Given the description of an element on the screen output the (x, y) to click on. 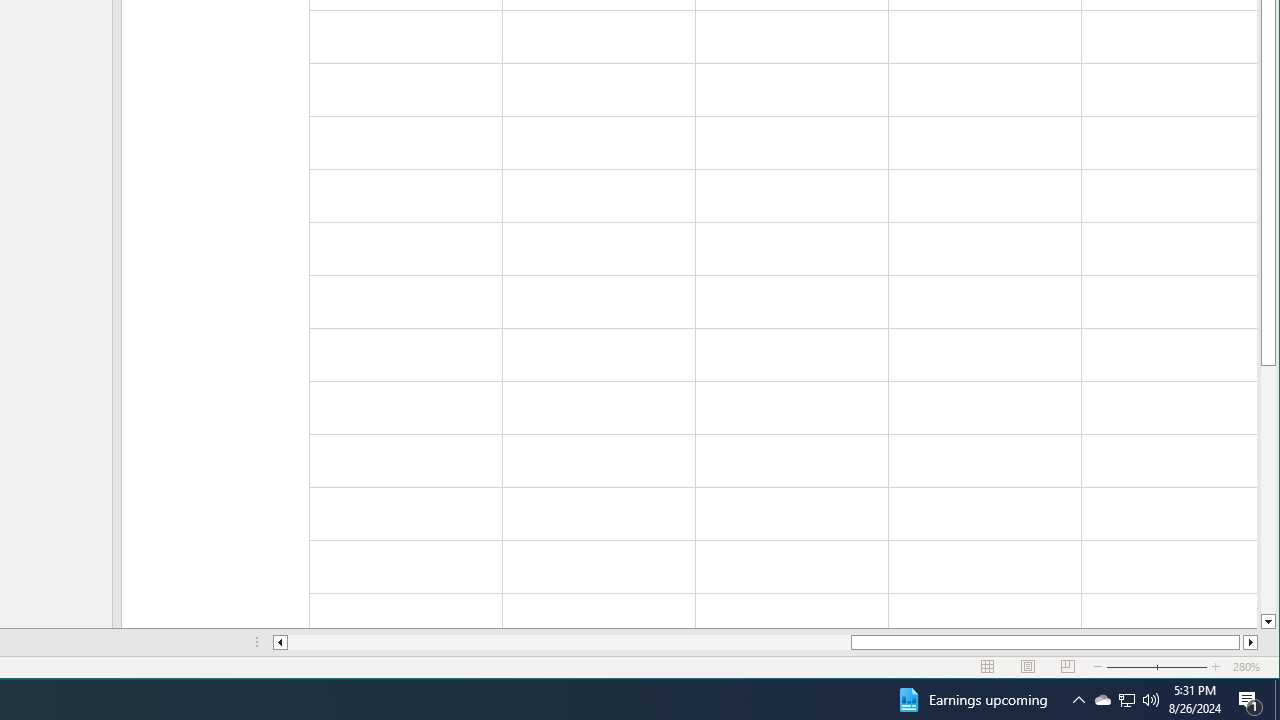
Show desktop (1126, 699)
Earnings upcoming (1277, 699)
User Promoted Notification Area (971, 699)
